Given the description of an element on the screen output the (x, y) to click on. 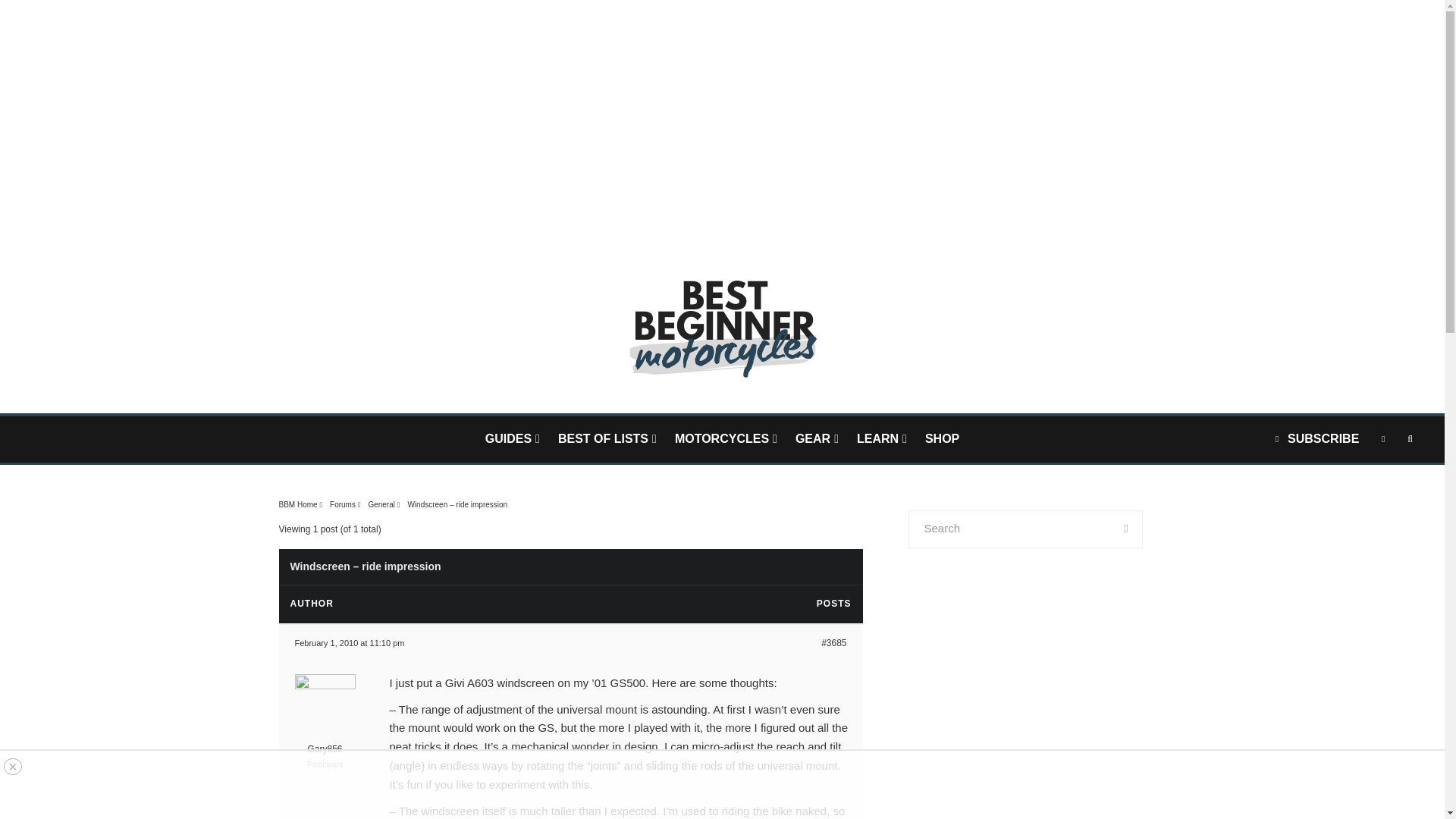
MOTORCYCLES (725, 439)
LEARN (881, 439)
GUIDES (512, 439)
GEAR (816, 439)
Advertisement (1024, 709)
BEST OF LISTS (606, 439)
